Given the description of an element on the screen output the (x, y) to click on. 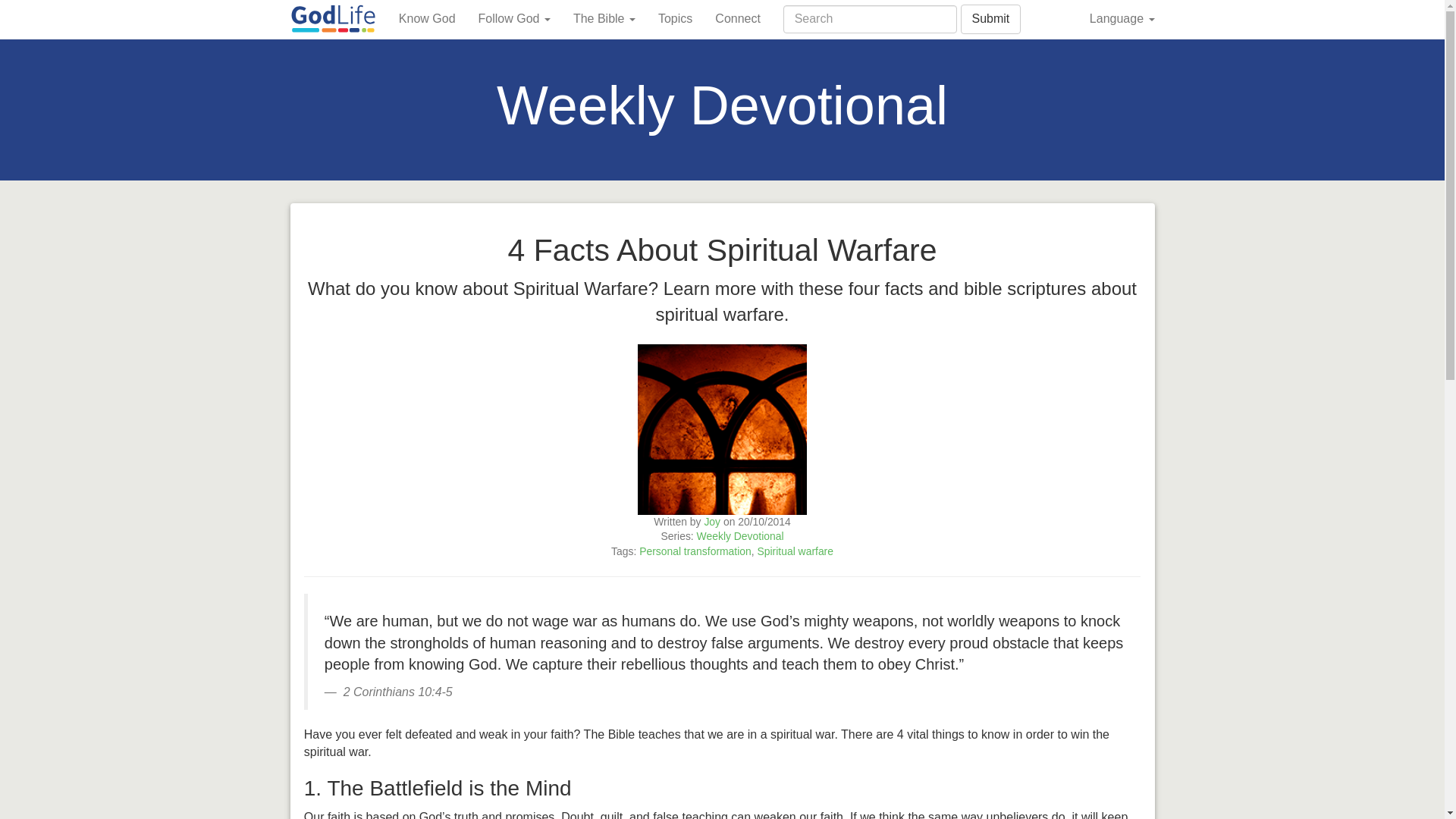
Connect (737, 18)
Follow God (514, 18)
The Bible (604, 18)
Joy (711, 521)
Weekly Devotional (740, 535)
Know God (427, 18)
Language (1122, 18)
Topics (674, 18)
Personal transformation (695, 551)
Spiritual warfare (794, 551)
